Given the description of an element on the screen output the (x, y) to click on. 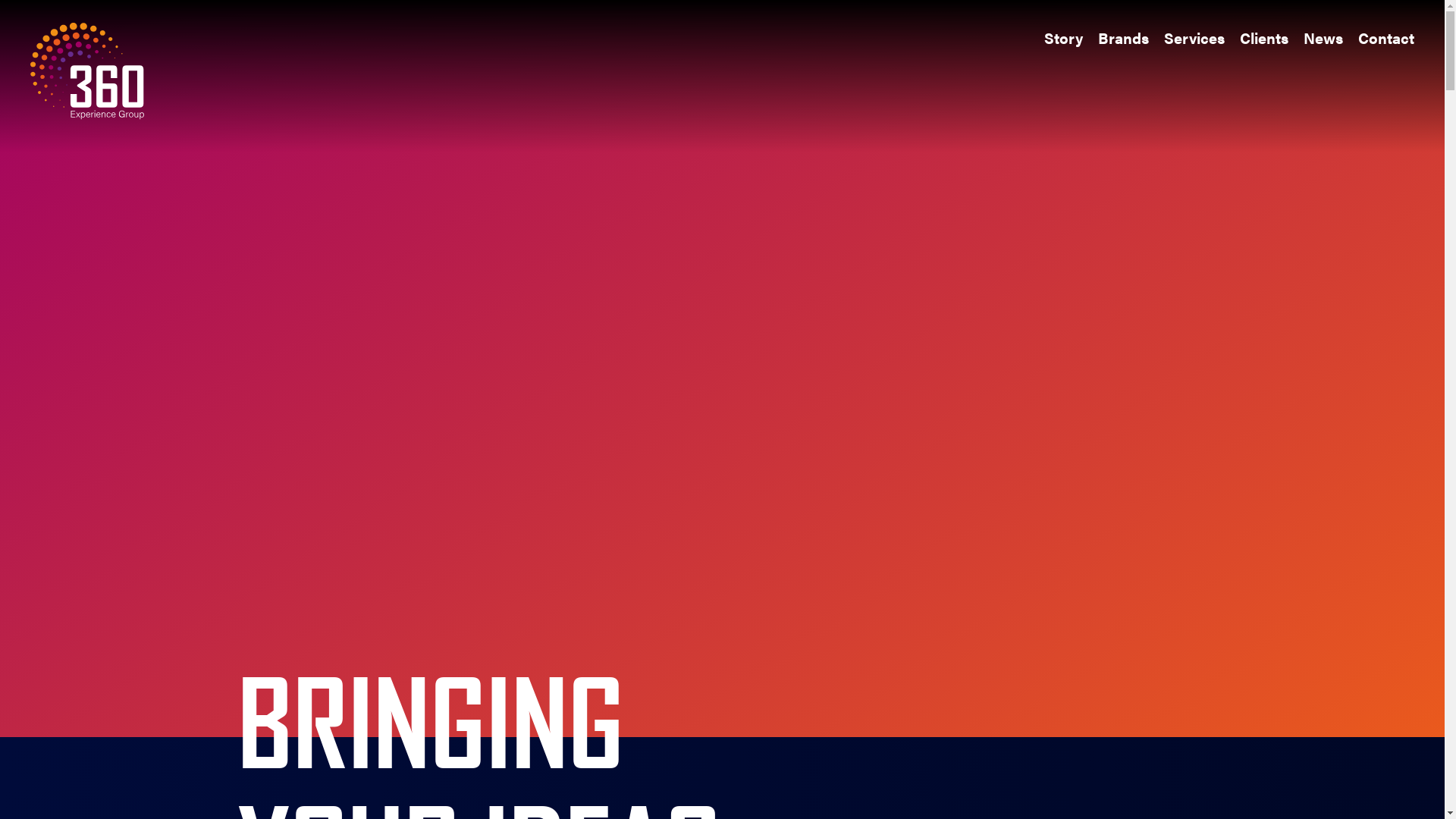
Contact Element type: text (1386, 37)
Services Element type: text (1194, 37)
News Element type: text (1323, 37)
Clients Element type: text (1263, 37)
Story Element type: text (1063, 37)
360 Experience Element type: hover (87, 74)
Brands Element type: text (1123, 37)
